Given the description of an element on the screen output the (x, y) to click on. 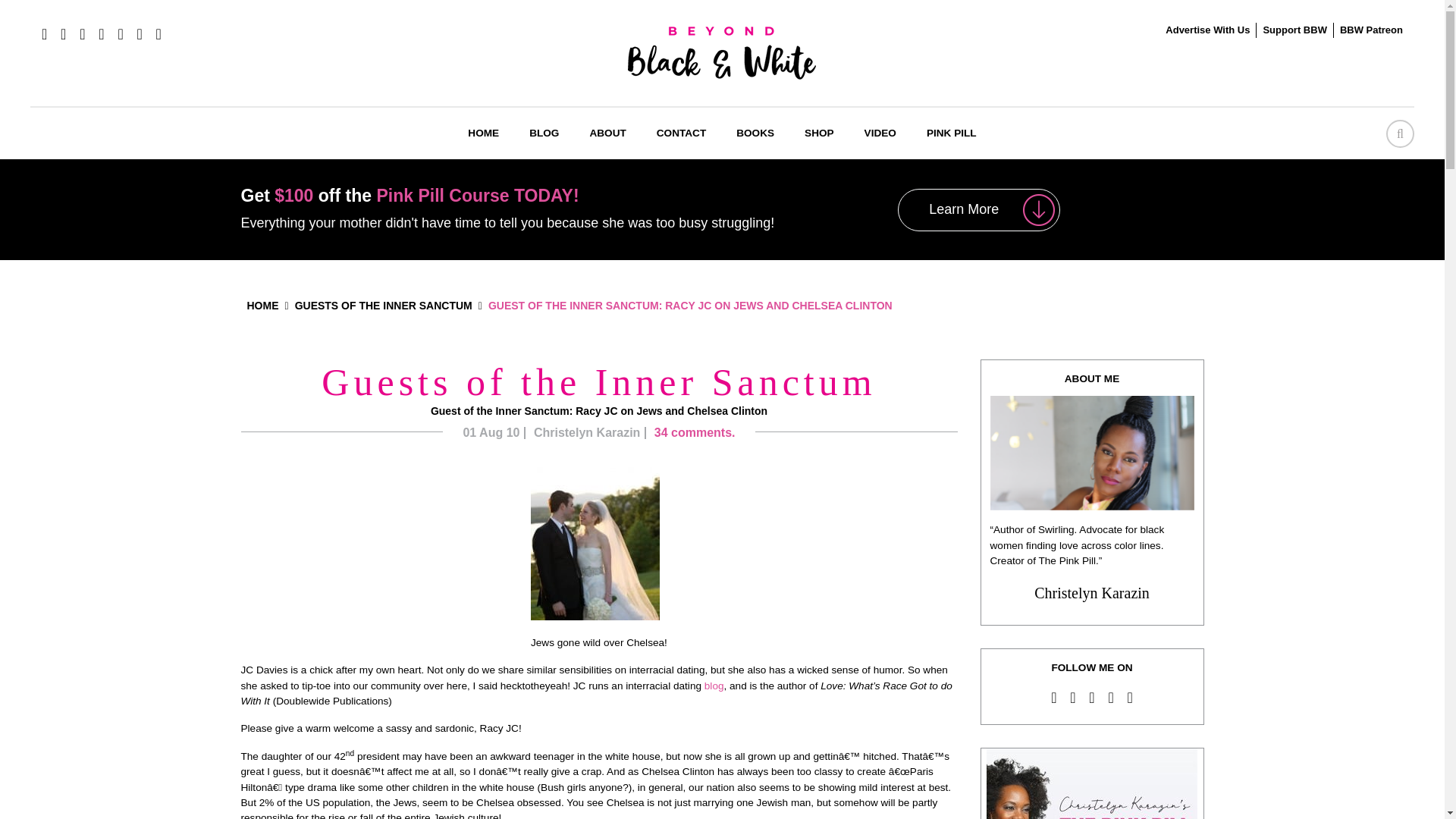
ABOUT (606, 132)
BLOG (543, 132)
BBW Patreon (1371, 30)
CONTACT (681, 132)
PINK PILL (951, 132)
VIDEO (879, 132)
Support BBW (1294, 30)
SHOP (818, 132)
Go to Guests of the Inner Sanctum. (383, 305)
